Given the description of an element on the screen output the (x, y) to click on. 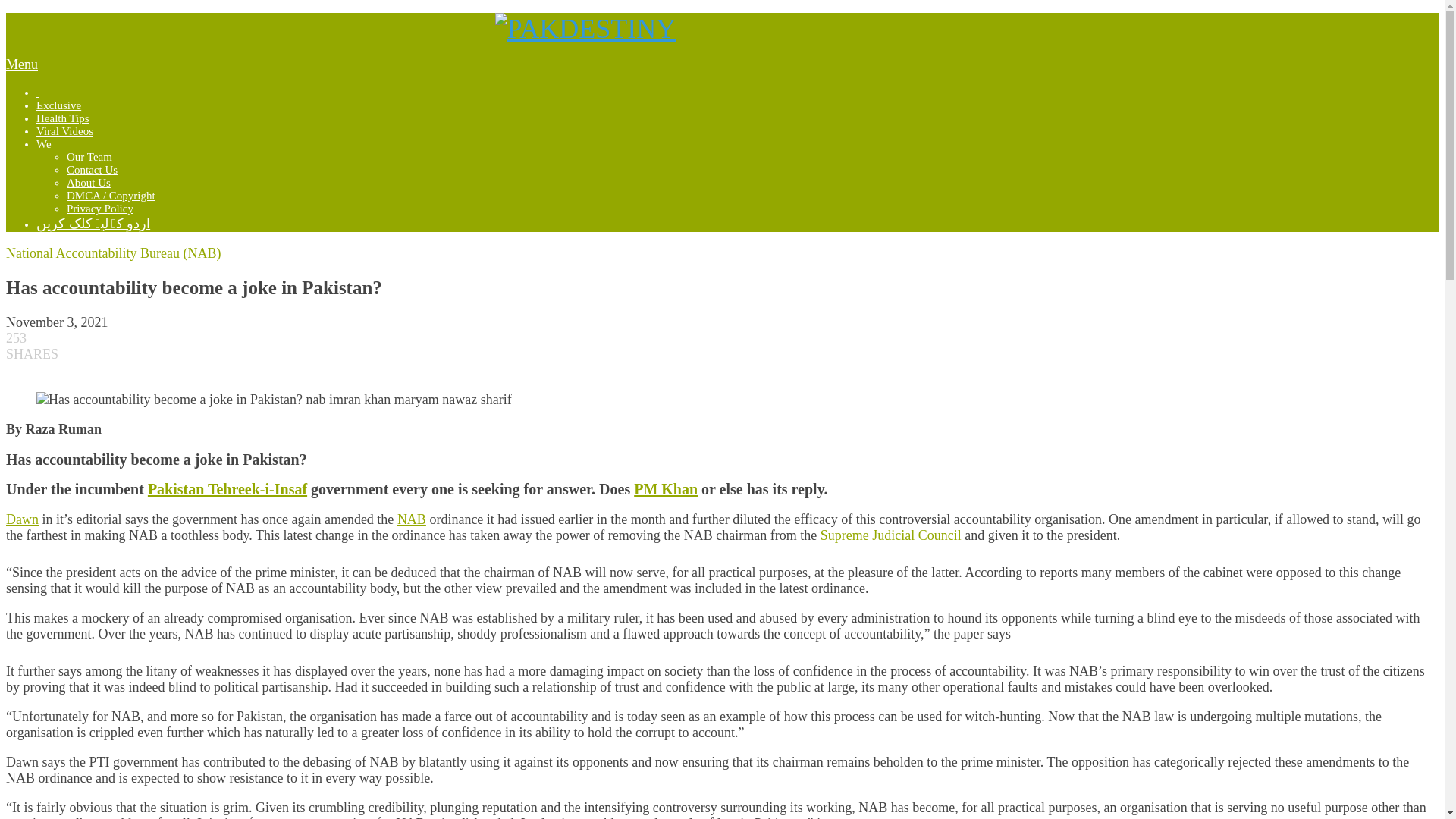
Viral Videos (64, 131)
NAB (411, 519)
Our Team (89, 156)
Exclusive (58, 105)
Privacy Policy (99, 208)
Health Tips (62, 118)
Menu (21, 64)
Dawn (22, 519)
Pakistan Tehreek-i-Insaf (227, 488)
PM Khan (665, 488)
